Given the description of an element on the screen output the (x, y) to click on. 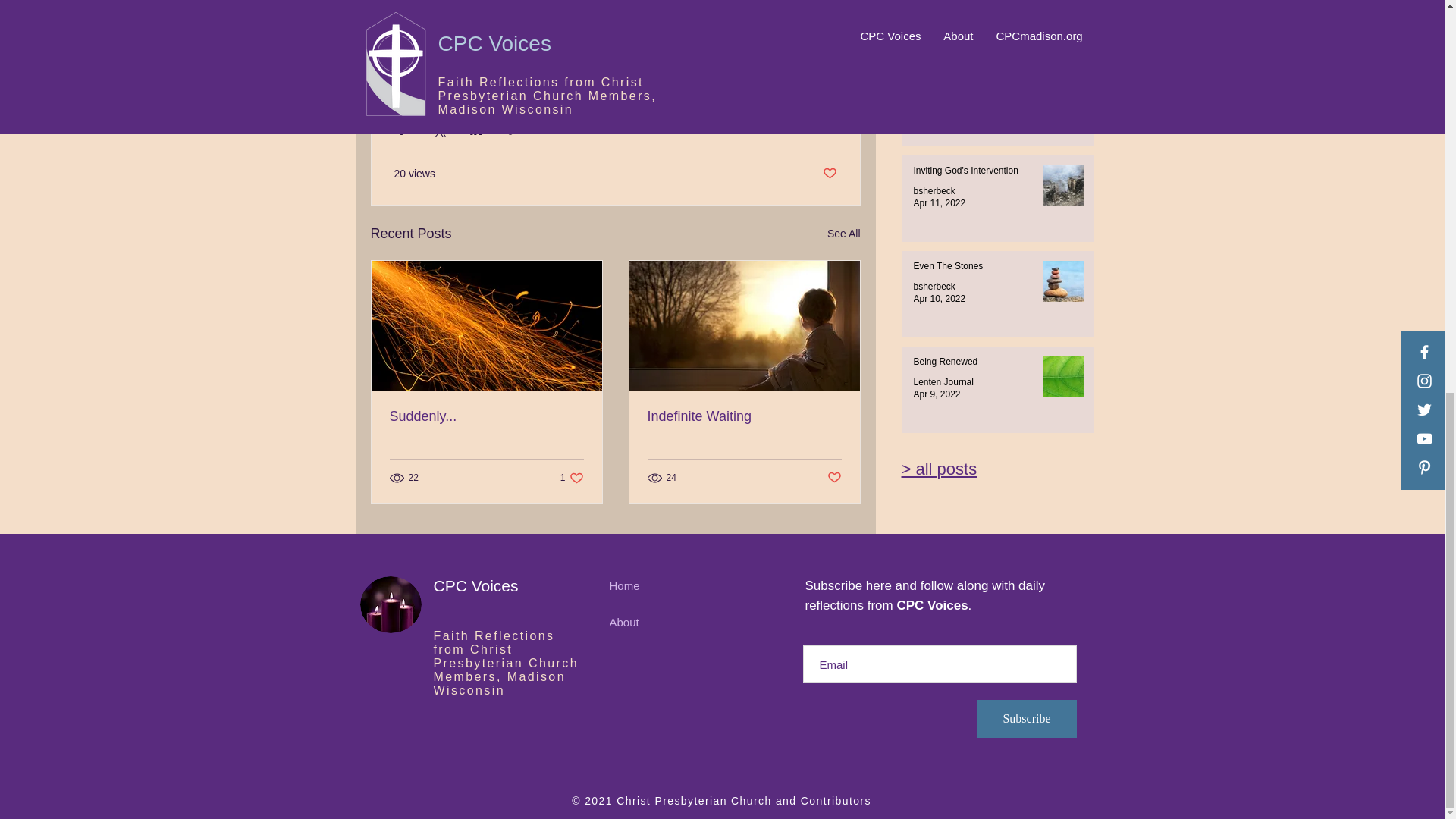
bsherbeck (933, 190)
Suddenly... (486, 416)
Indefinite Waiting (744, 416)
Lenten Journal (571, 477)
See All (942, 108)
Apr 13, 2022 (843, 233)
Post not marked as liked (938, 11)
Inviting God's Intervention (828, 173)
Post not marked as liked (970, 173)
Lenten Journal (834, 478)
Apr 11, 2022 (942, 2)
Journal (938, 120)
Apr 11, 2022 (819, 128)
Even The Stones (938, 203)
